Given the description of an element on the screen output the (x, y) to click on. 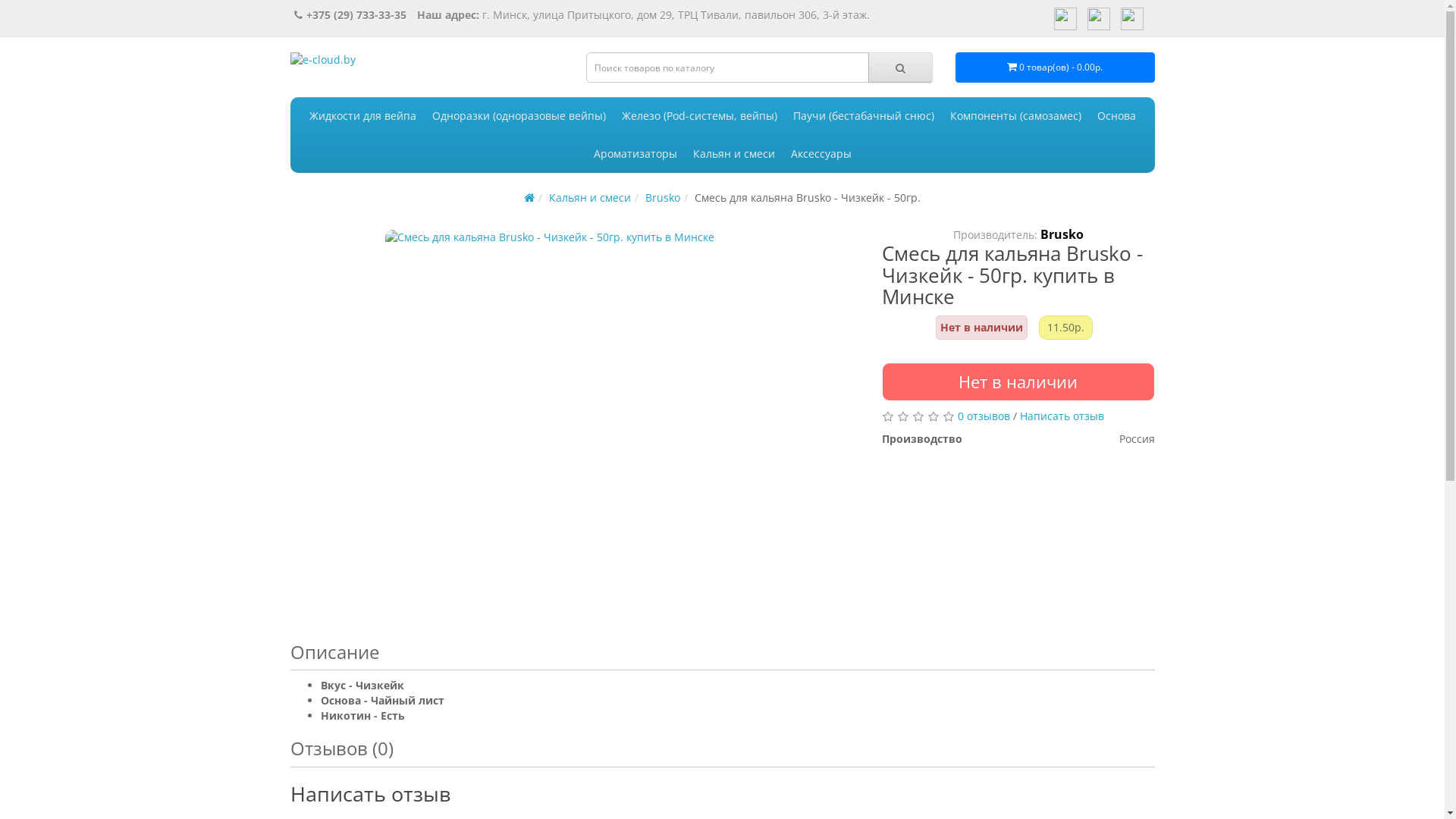
e-cloud.by Element type: hover (365, 70)
Brusko Element type: text (1061, 233)
+375 (29) 733-33-35 Element type: text (350, 14)
Brusko Element type: text (662, 197)
